Given the description of an element on the screen output the (x, y) to click on. 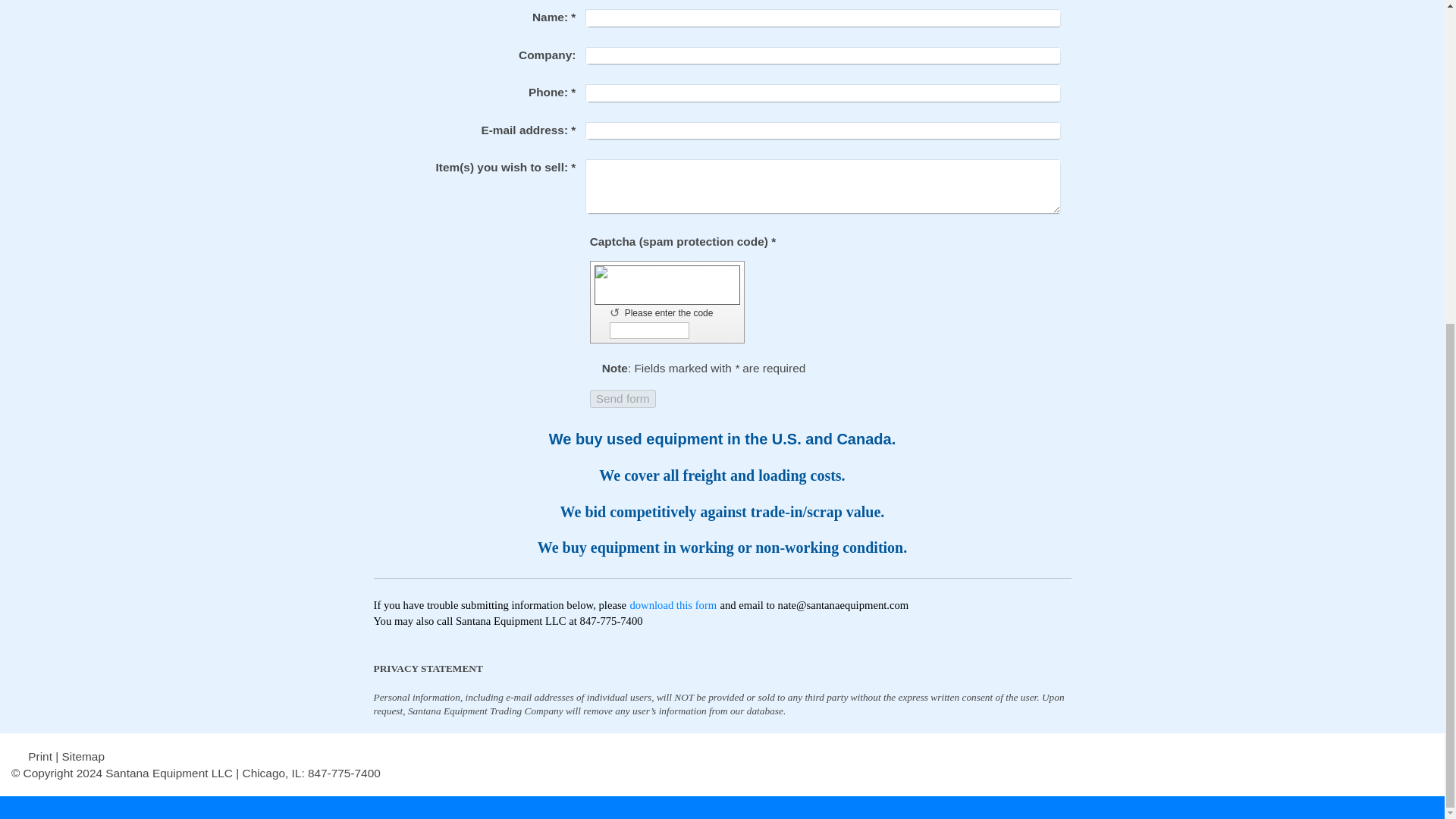
Send form (622, 398)
Print (33, 756)
Sitemap (82, 756)
Generate new code (617, 312)
download this form (672, 604)
Send form (622, 398)
